Given the description of an element on the screen output the (x, y) to click on. 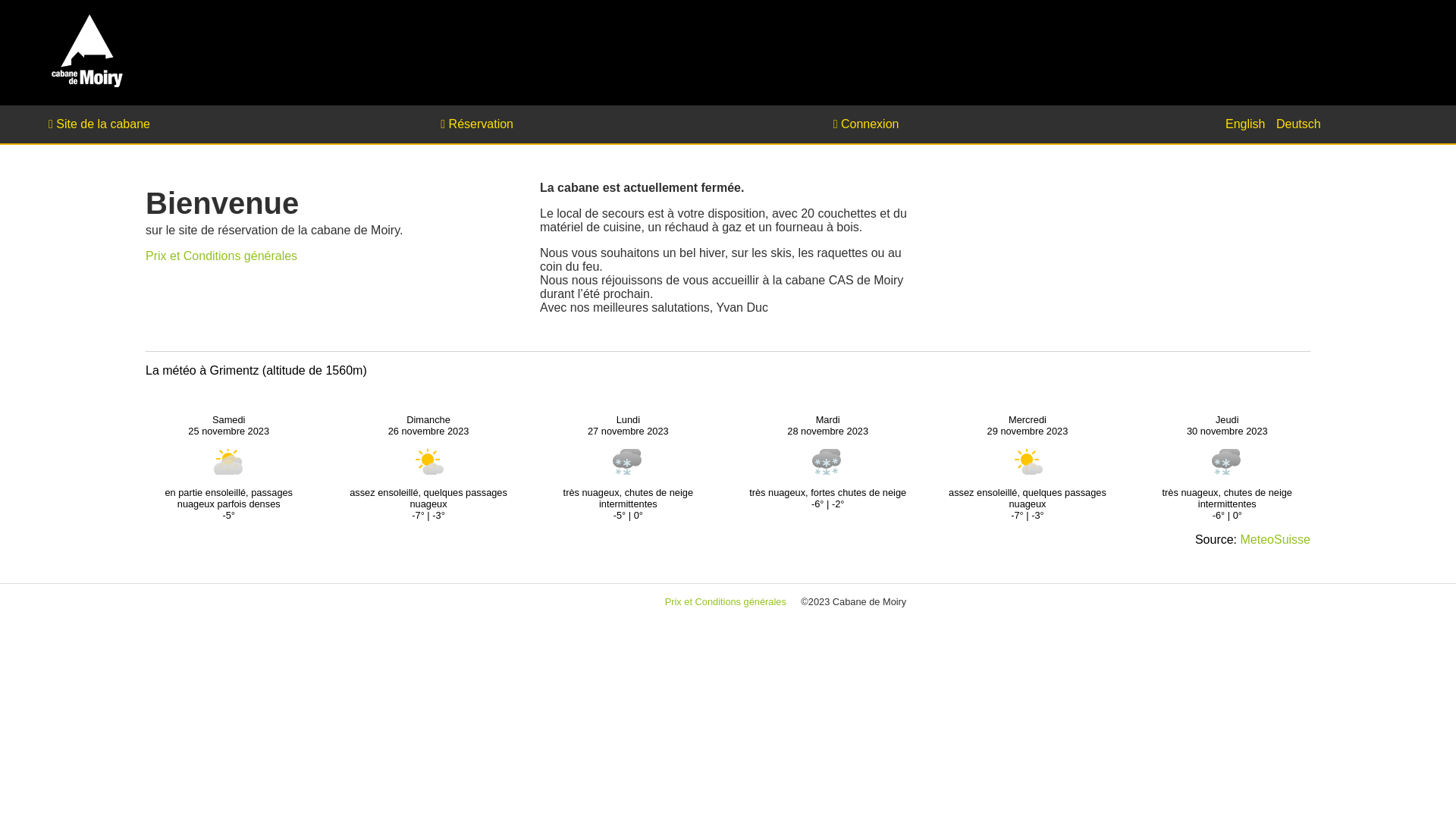
English Element type: text (1244, 123)
Site de la cabane Element type: text (187, 124)
MeteoSuisse Element type: text (1275, 539)
Deutsch Element type: text (1298, 123)
Connexion Element type: text (972, 124)
